Given the description of an element on the screen output the (x, y) to click on. 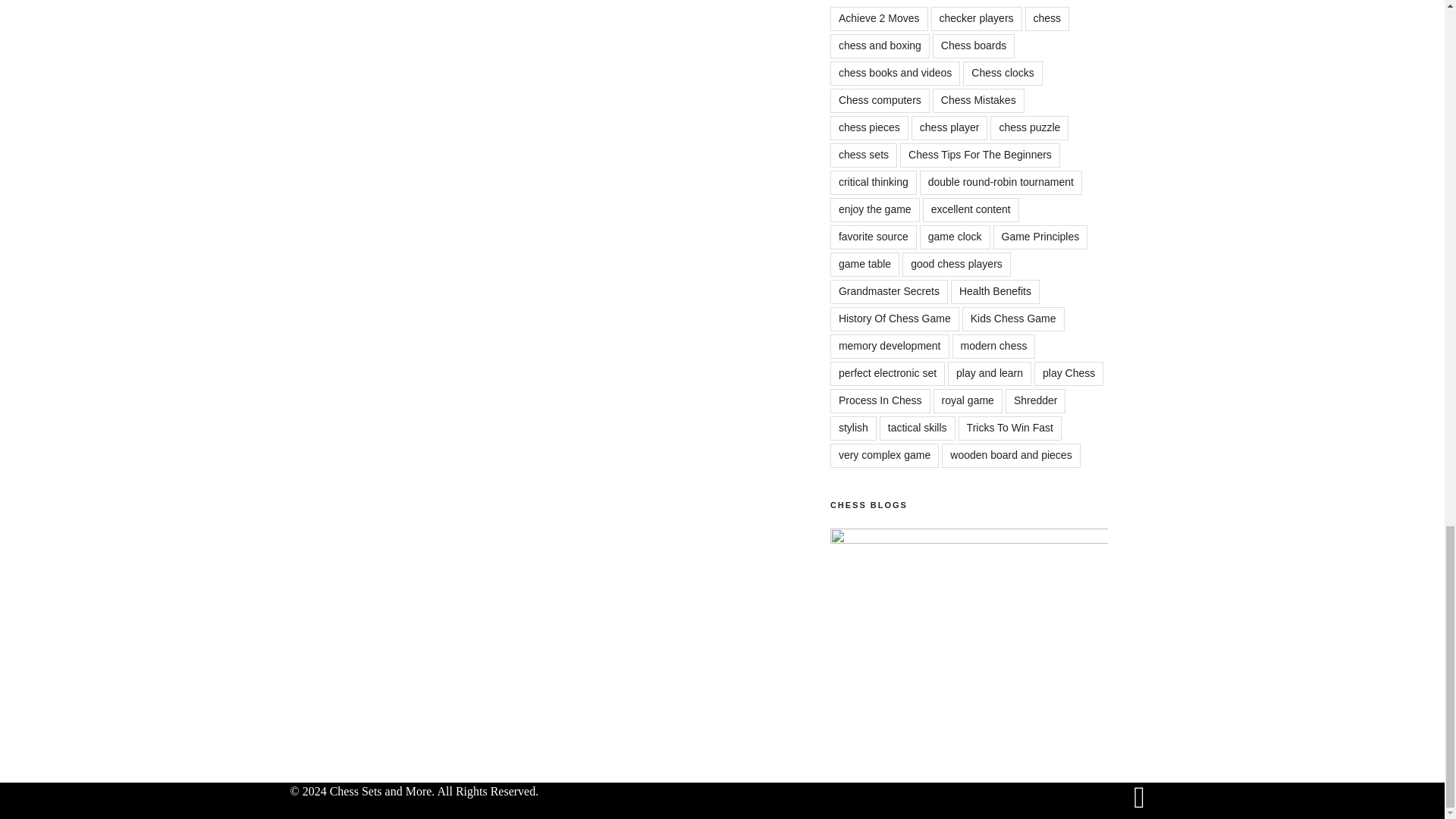
Achieve 2 Moves (878, 18)
